Given the description of an element on the screen output the (x, y) to click on. 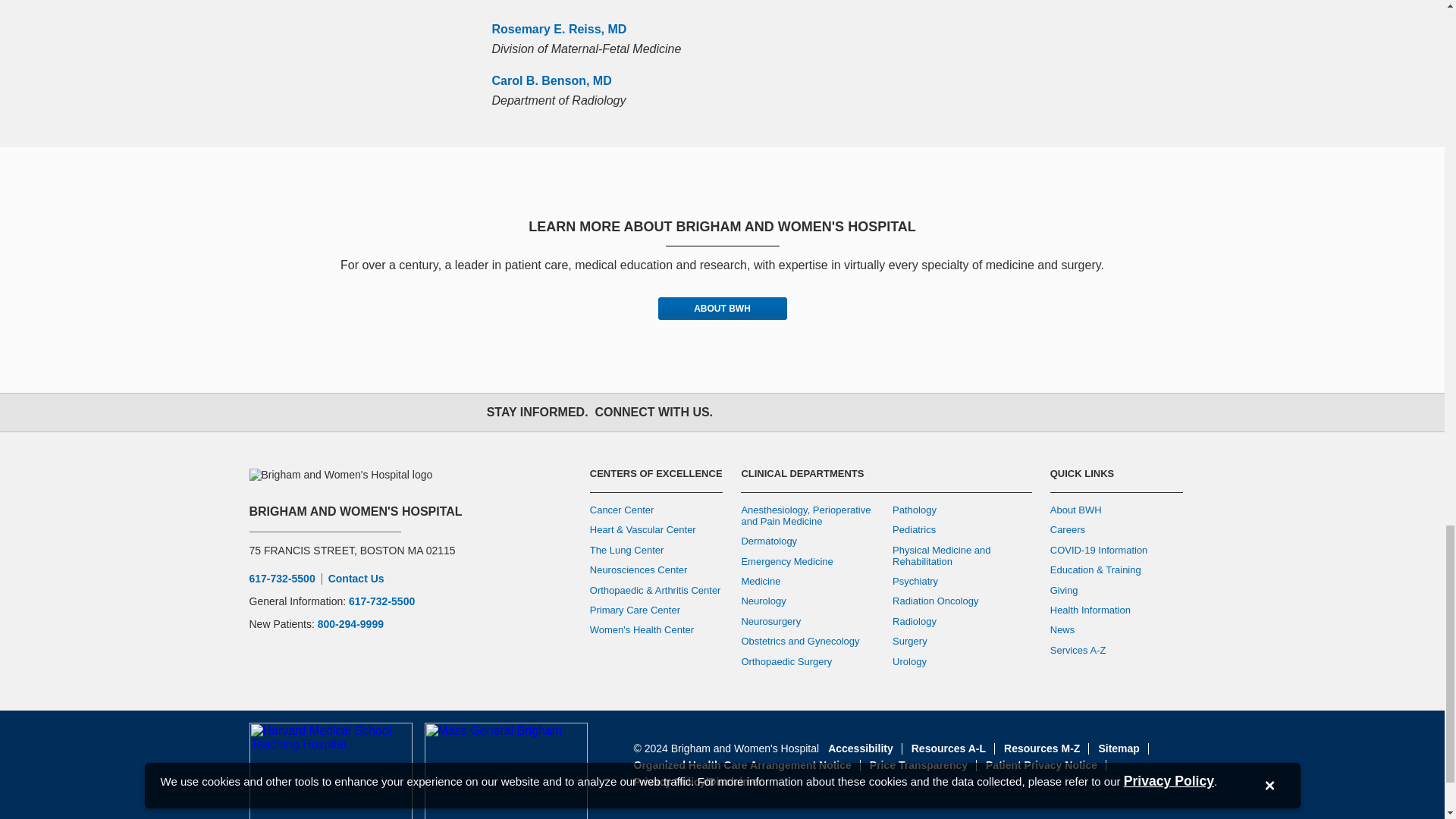
Instagram (804, 412)
YouTube (838, 412)
Newsroom (905, 412)
Rosemary E. Reiss, MD (559, 29)
Facebook (738, 412)
Carol B. Benson, MD (551, 80)
LinkedIn (871, 412)
